Given the description of an element on the screen output the (x, y) to click on. 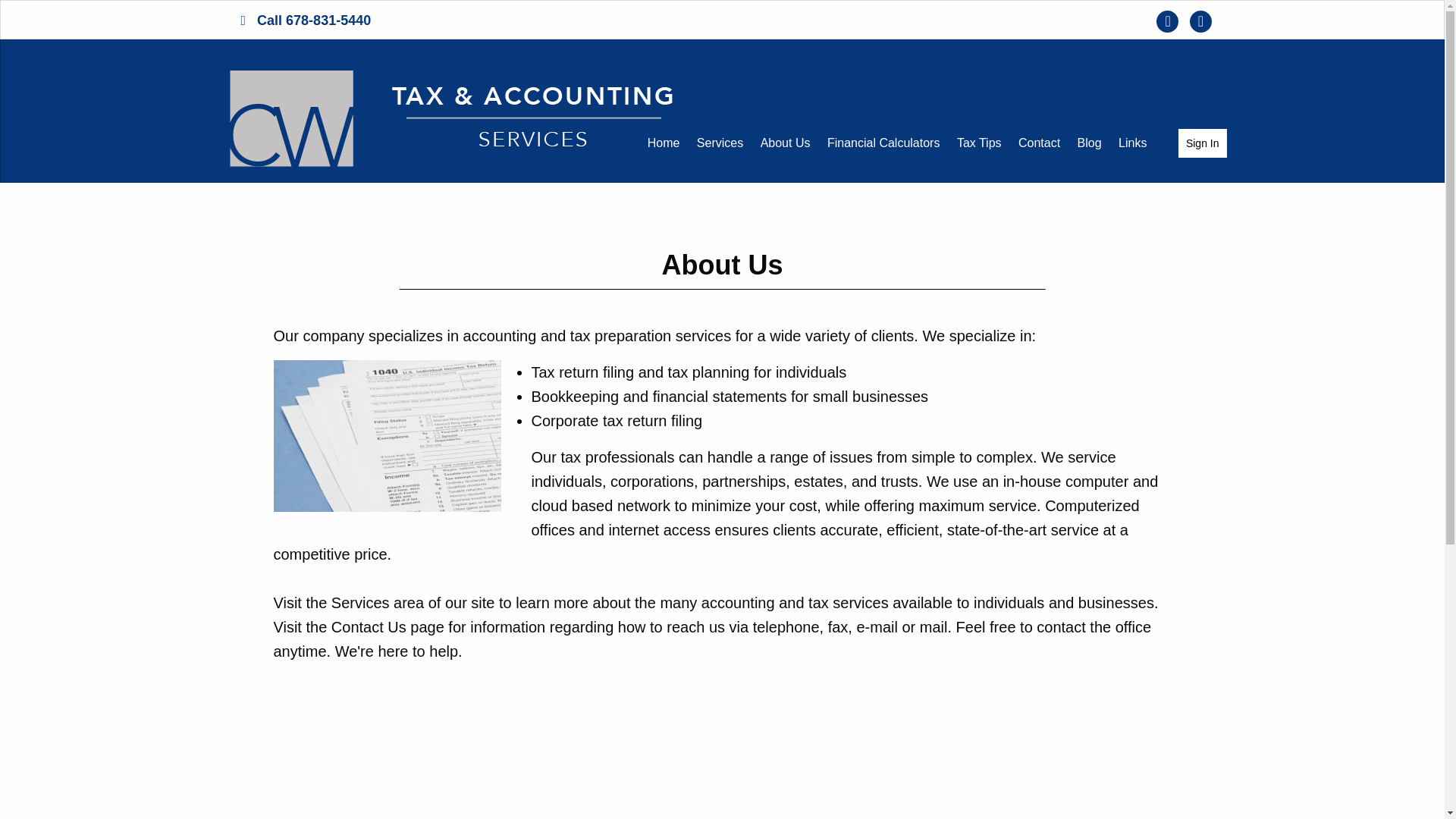
Services (719, 143)
Blog (1089, 143)
Home (663, 143)
Sign In (1202, 143)
About Us (785, 143)
Financial Calculators (884, 143)
Contact (1039, 143)
Links (1132, 143)
Sign In (1202, 143)
Tax Tips (979, 143)
